Given the description of an element on the screen output the (x, y) to click on. 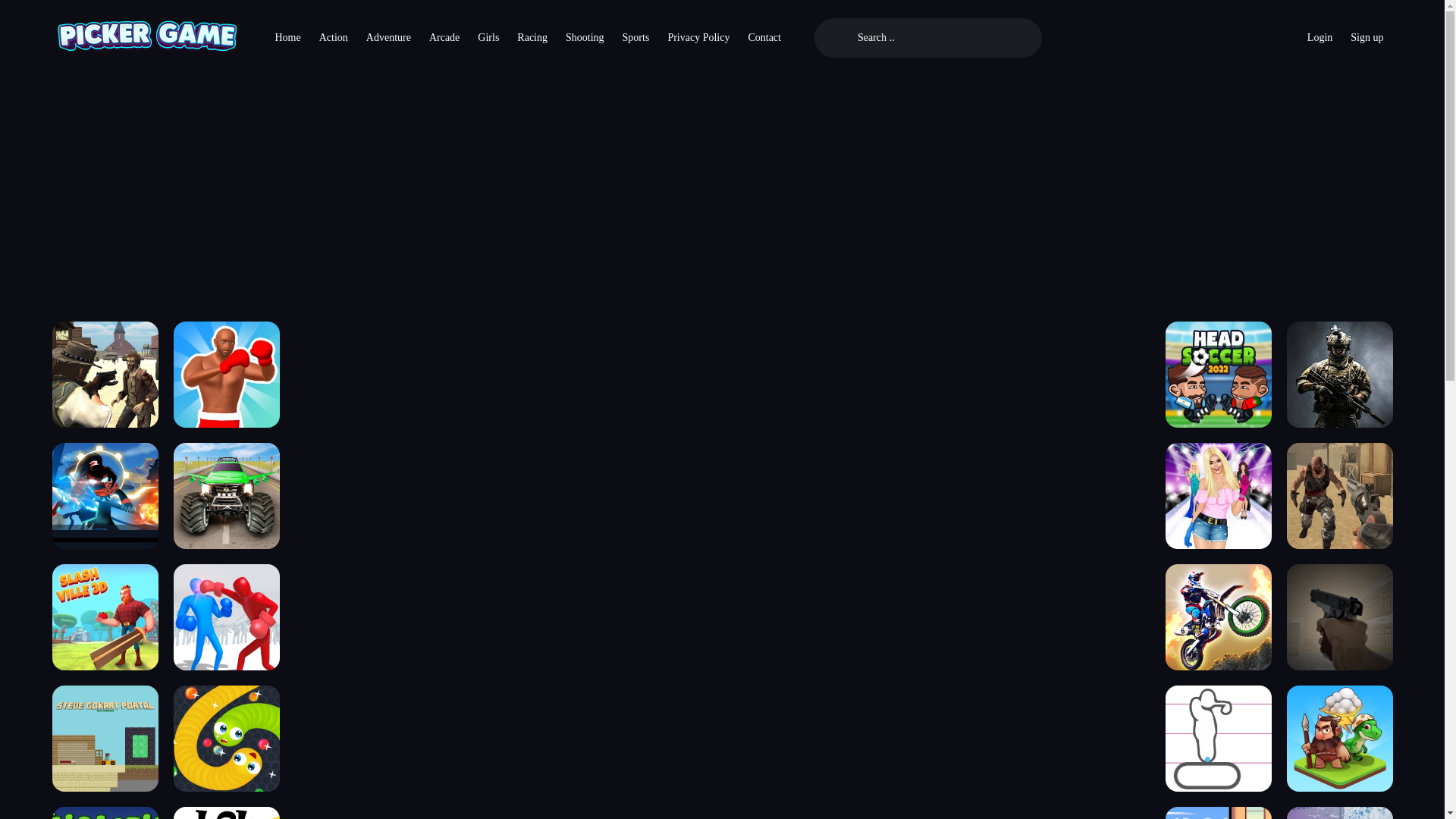
Contact (764, 37)
Shooting (584, 37)
Arcade (444, 37)
Sports (635, 37)
Privacy Policy (698, 37)
Home (286, 37)
Girls (488, 37)
Action (333, 37)
Racing (532, 37)
Login (1319, 37)
Adventure (388, 37)
Sign up (1365, 37)
